Given the description of an element on the screen output the (x, y) to click on. 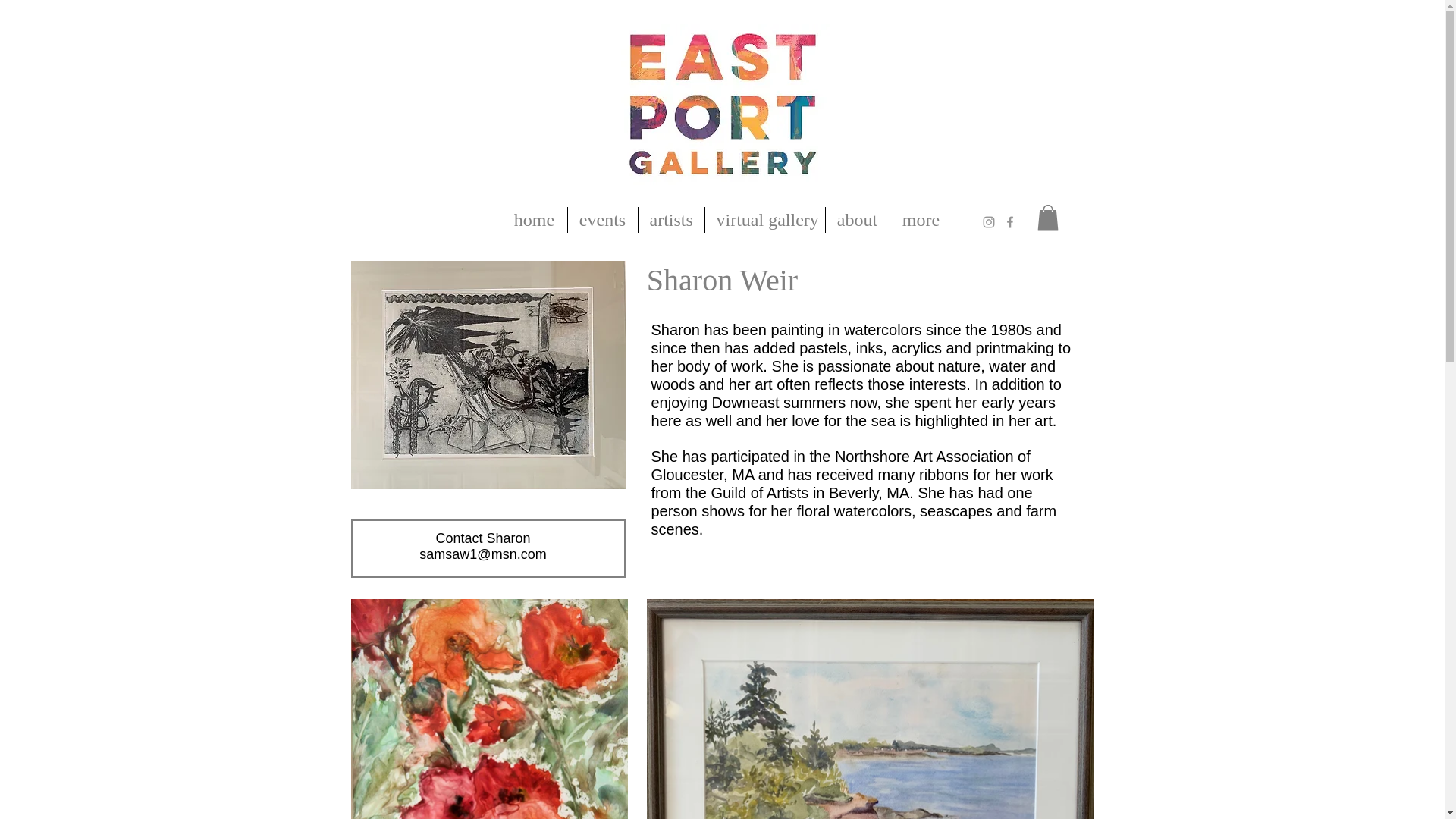
about (856, 219)
virtual gallery (764, 219)
events (602, 219)
artists (671, 219)
home (534, 219)
